Given the description of an element on the screen output the (x, y) to click on. 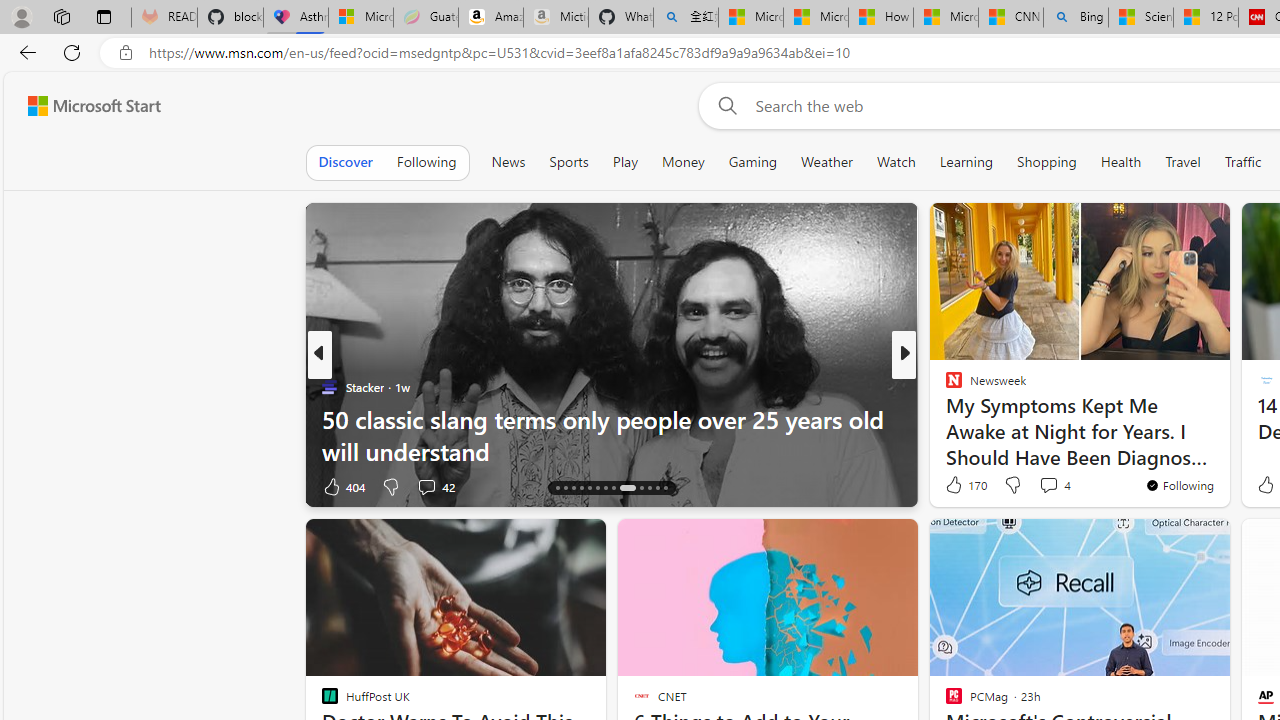
AutomationID: tab-22 (626, 487)
636 Like (959, 486)
AutomationID: tab-14 (556, 487)
